Given the description of an element on the screen output the (x, y) to click on. 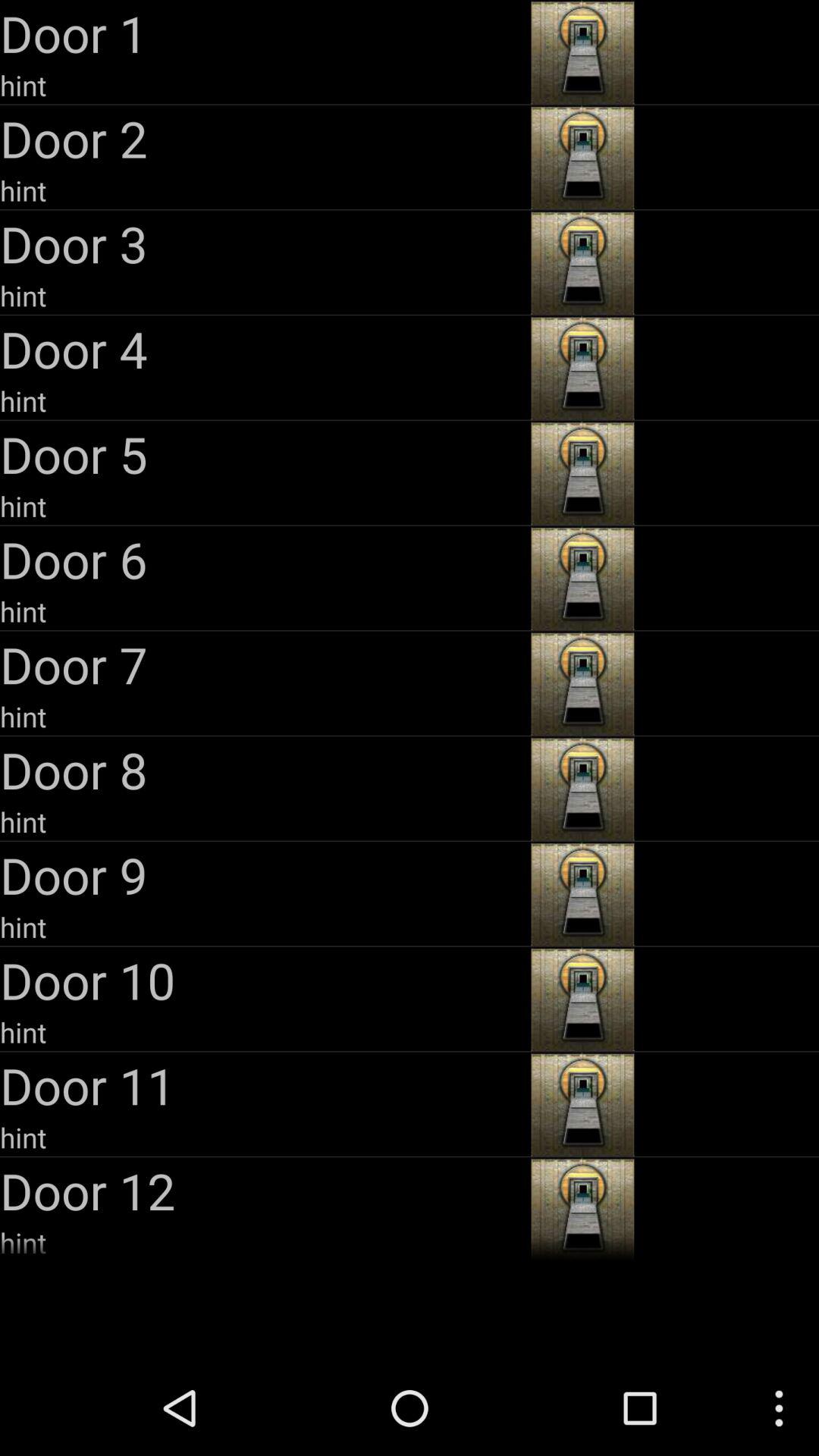
swipe to the door 8 icon (263, 769)
